Given the description of an element on the screen output the (x, y) to click on. 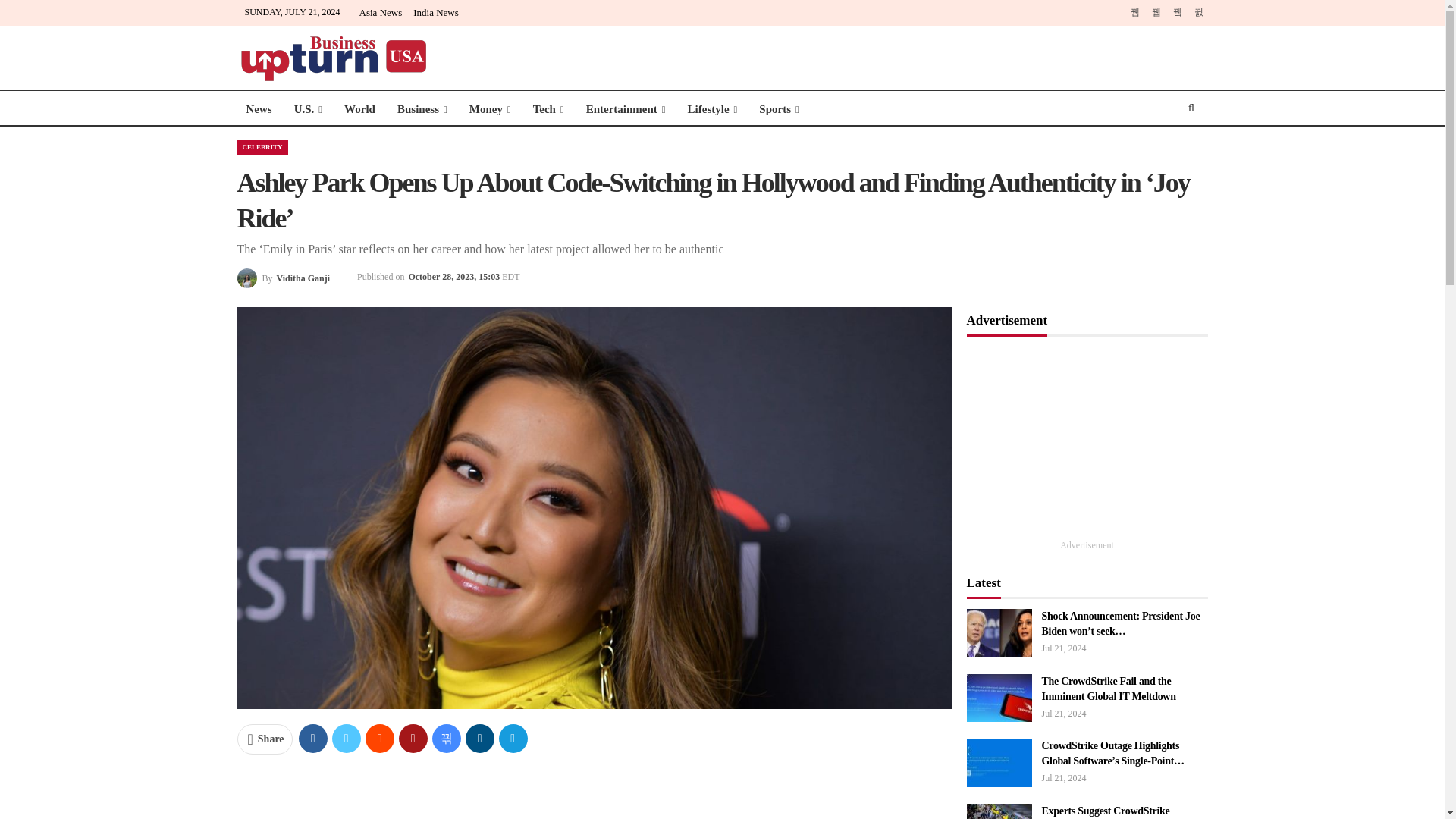
Business (422, 108)
Asia News (381, 12)
Entertainment (625, 108)
Money (489, 108)
World (359, 108)
U.S. (308, 108)
Advertisement (592, 793)
India News (435, 12)
News (258, 108)
Browse Author Articles (282, 276)
Tech (548, 108)
Lifestyle (712, 108)
